Given the description of an element on the screen output the (x, y) to click on. 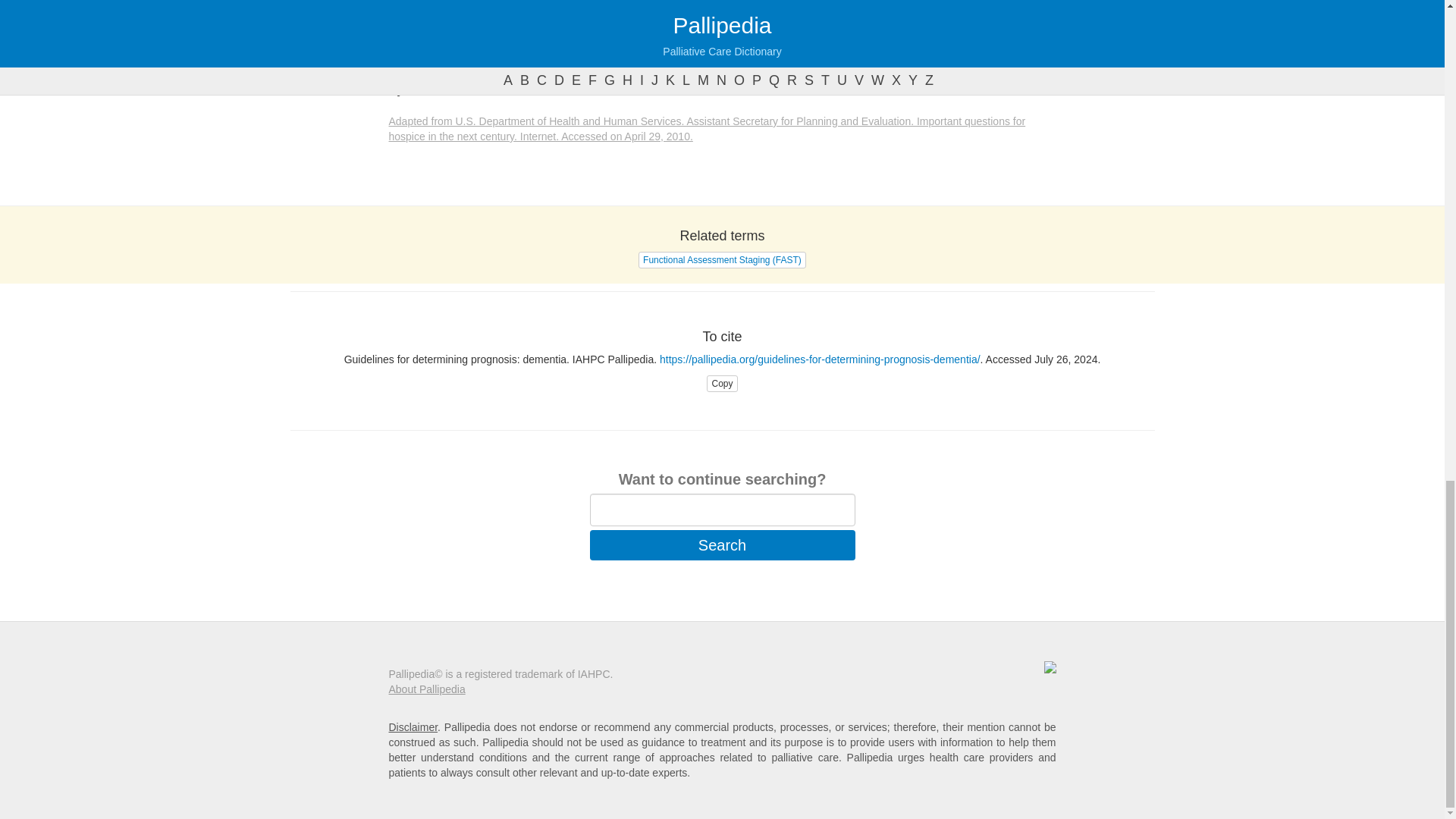
Search (722, 545)
About Pallipedia (426, 689)
Copy (721, 382)
Search (722, 545)
